Given the description of an element on the screen output the (x, y) to click on. 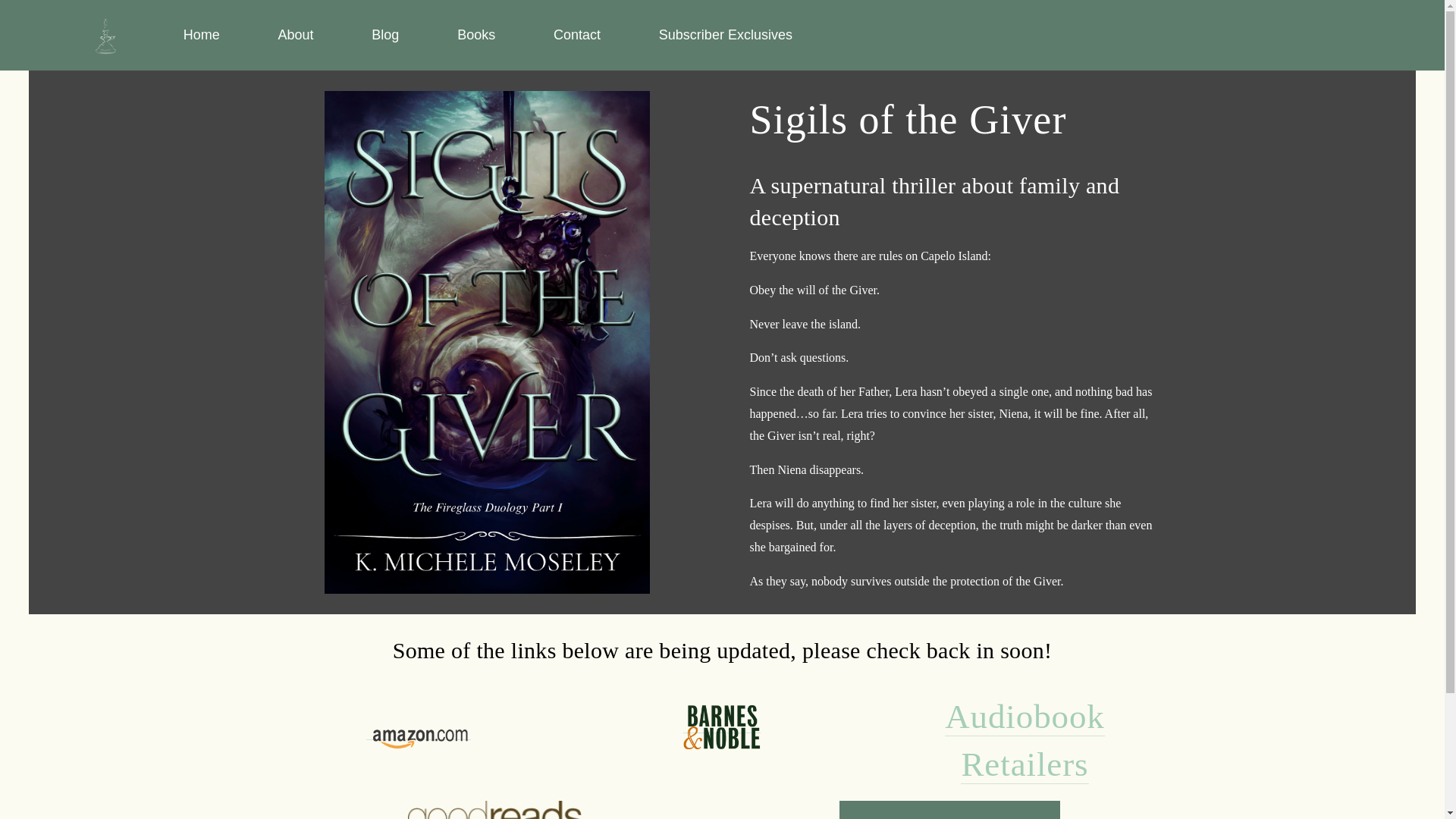
Home (201, 35)
Audiobook Retailers (1024, 740)
Books (476, 35)
Audiobook Retailers (1024, 740)
Blog (384, 35)
Subscriber Exclusives (725, 35)
Ask about Signed Hardcovers! (949, 809)
Contact (576, 35)
About (295, 35)
